Given the description of an element on the screen output the (x, y) to click on. 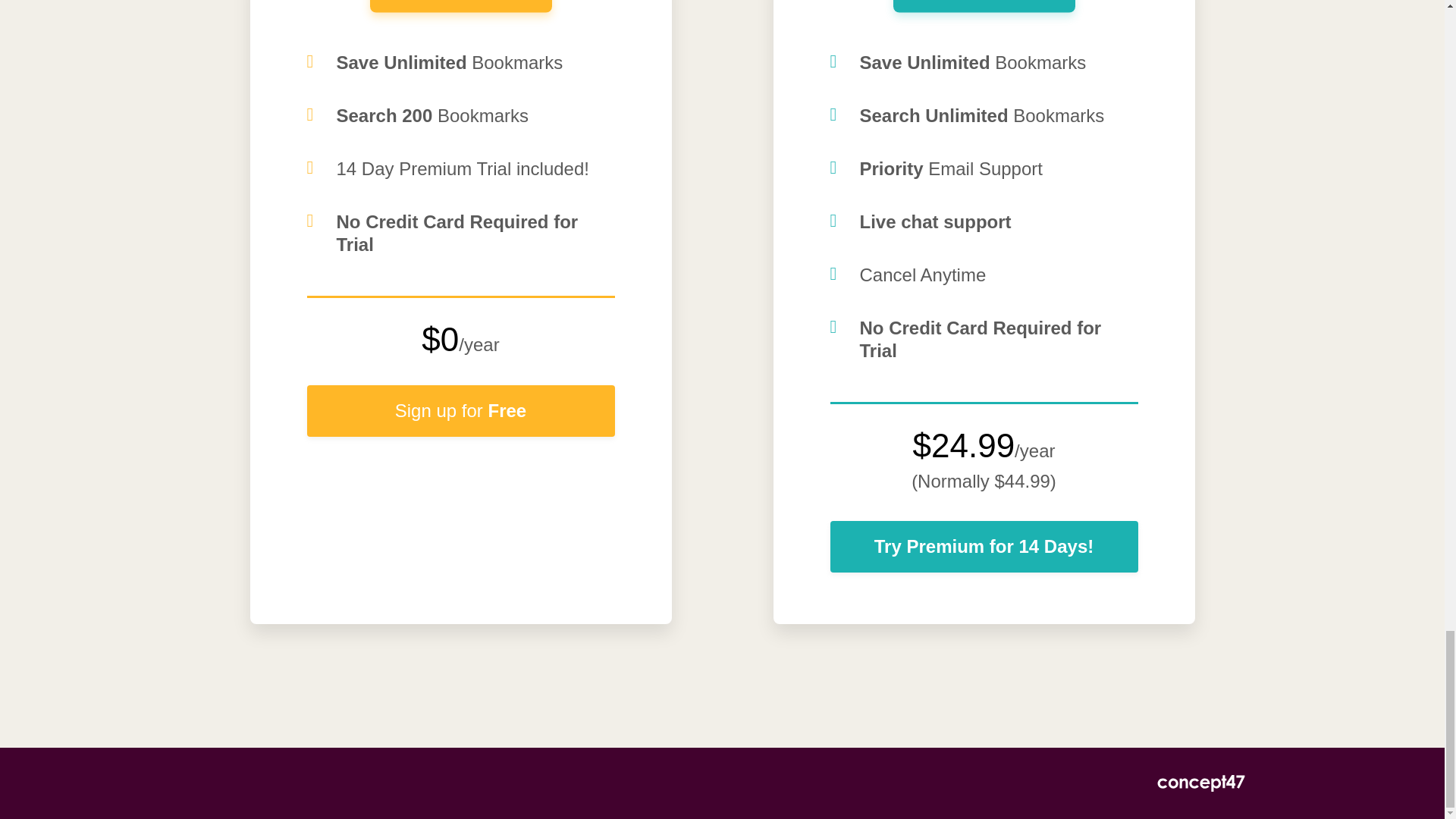
Sign up for Free (459, 410)
Try Premium for 14 Days! (983, 546)
